Given the description of an element on the screen output the (x, y) to click on. 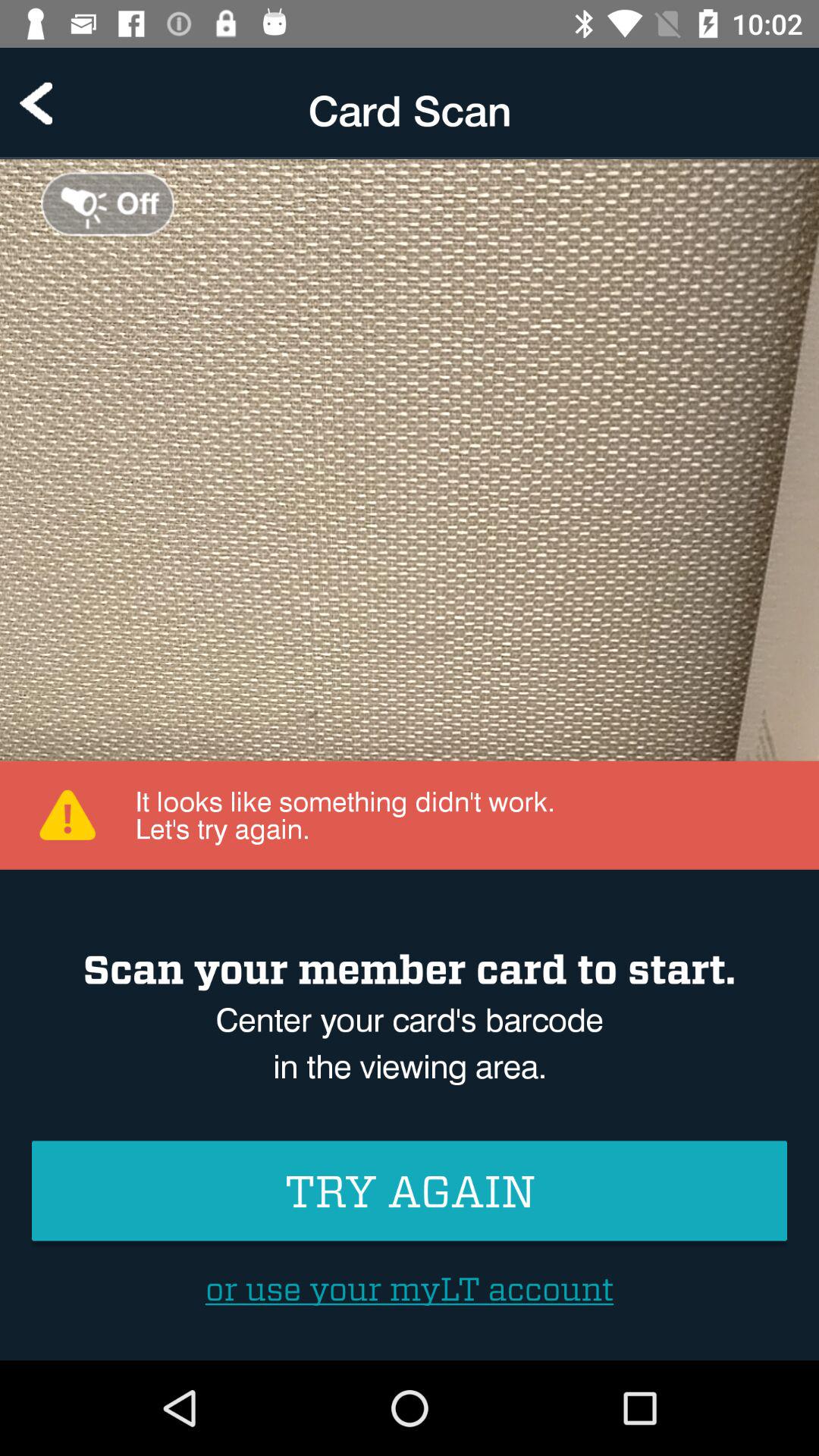
go to off (107, 204)
